Given the description of an element on the screen output the (x, y) to click on. 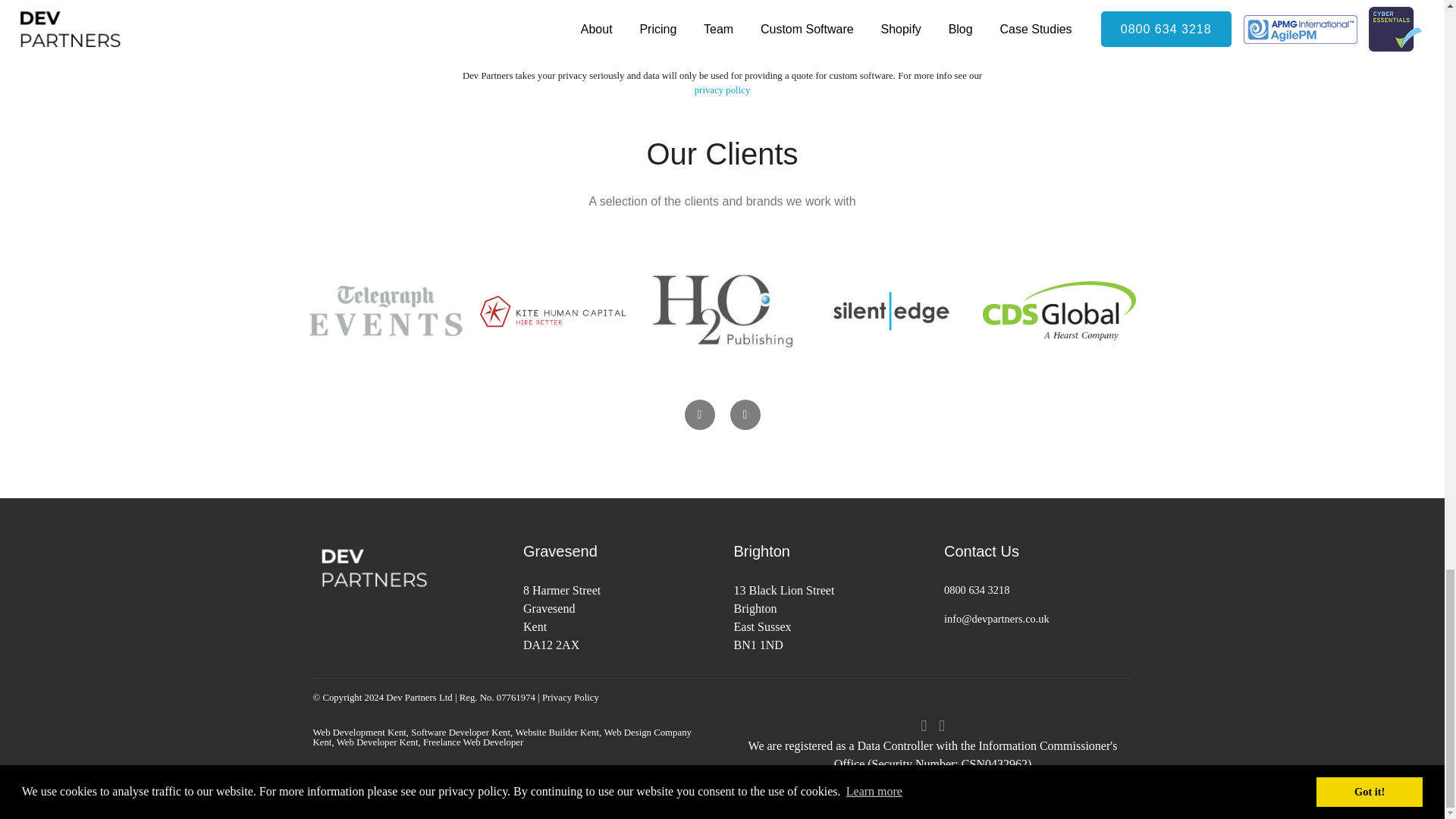
Next (744, 414)
Custom Software Written for CDS Global (1058, 310)
privacy policy (722, 90)
Web Development Kent (359, 732)
Dev Partners Ltd (418, 697)
Website Builder Kent (556, 732)
Previous (699, 414)
Custom Software Written for H2O Publishing (722, 310)
Custom Software Written for Silent Edge (890, 310)
Custom Software Written for Kite Recruitment (553, 310)
Privacy Policy (569, 697)
Software Developer Kent (460, 732)
0800 634 3218 (976, 589)
Web Design Company Kent (501, 737)
Custom Software Written for Telegraph Media Group (385, 310)
